Given the description of an element on the screen output the (x, y) to click on. 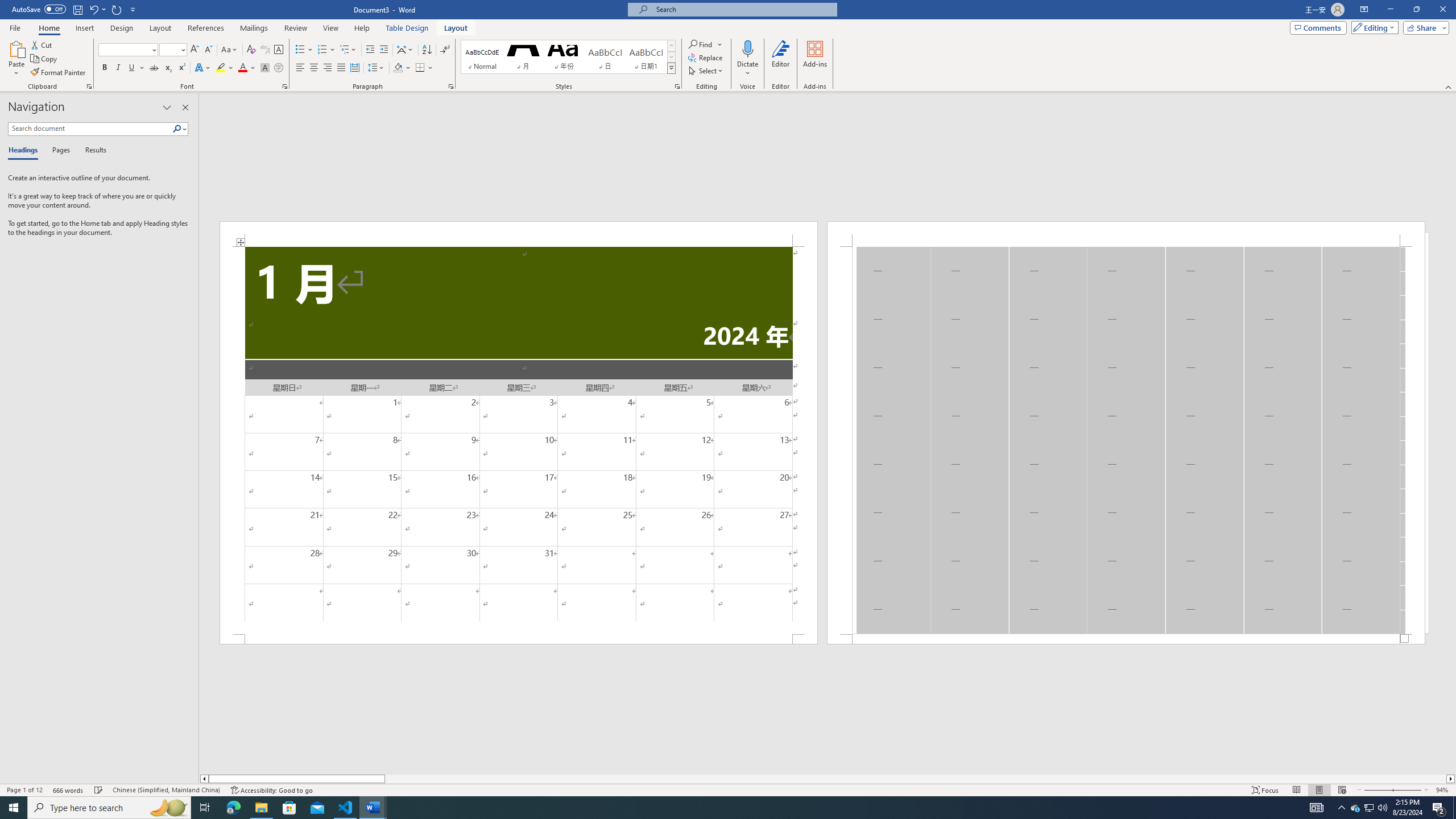
Repeat Doc Close (117, 9)
Header -Section 1- (1126, 233)
